Given the description of an element on the screen output the (x, y) to click on. 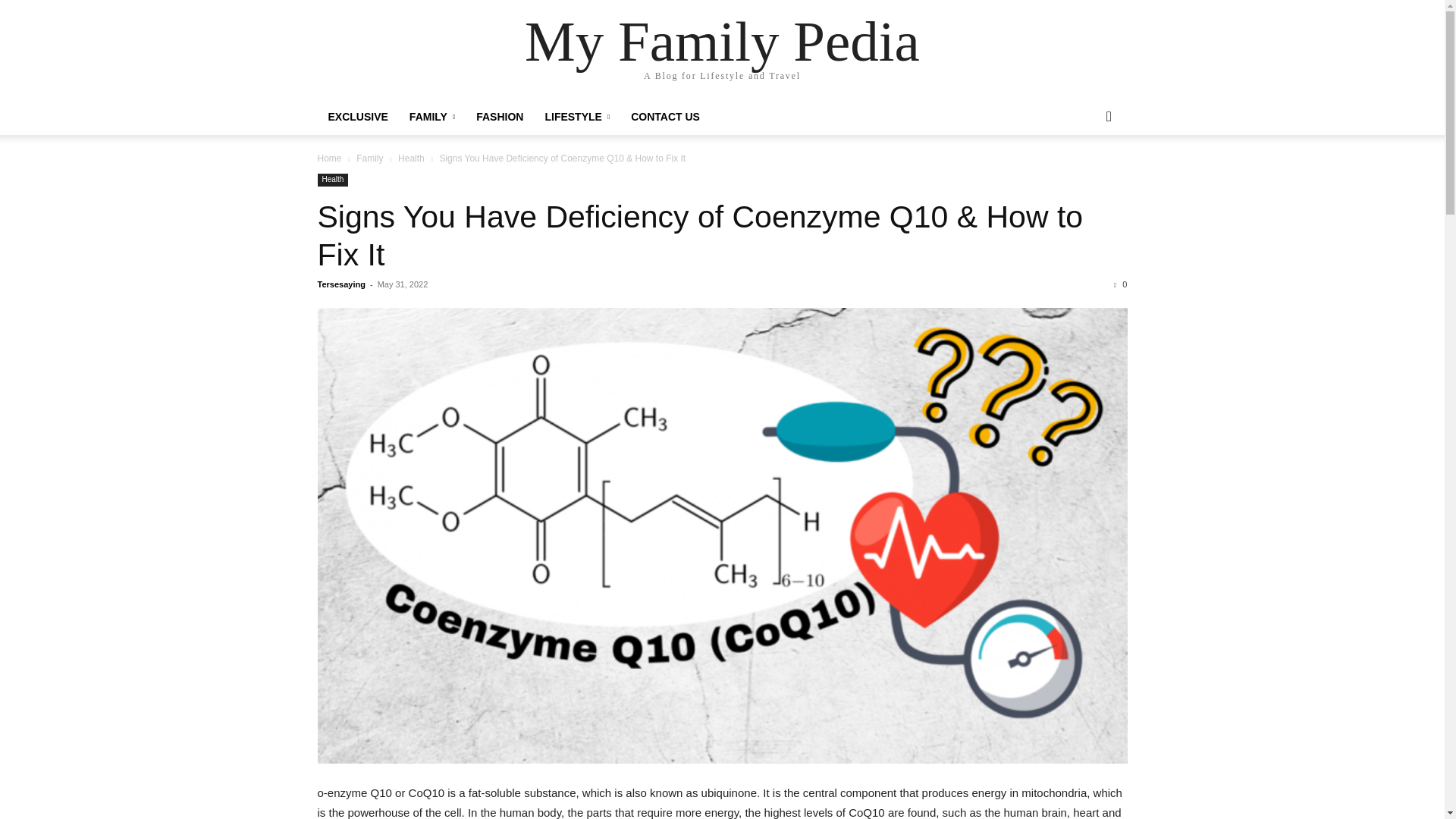
LIFESTYLE (577, 116)
Health (411, 158)
Search (1085, 177)
FAMILY (431, 116)
View all posts in Health (411, 158)
View all posts in Family (369, 158)
Tersesaying (341, 284)
0 (1119, 284)
EXCLUSIVE (357, 116)
Home (328, 158)
